Given the description of an element on the screen output the (x, y) to click on. 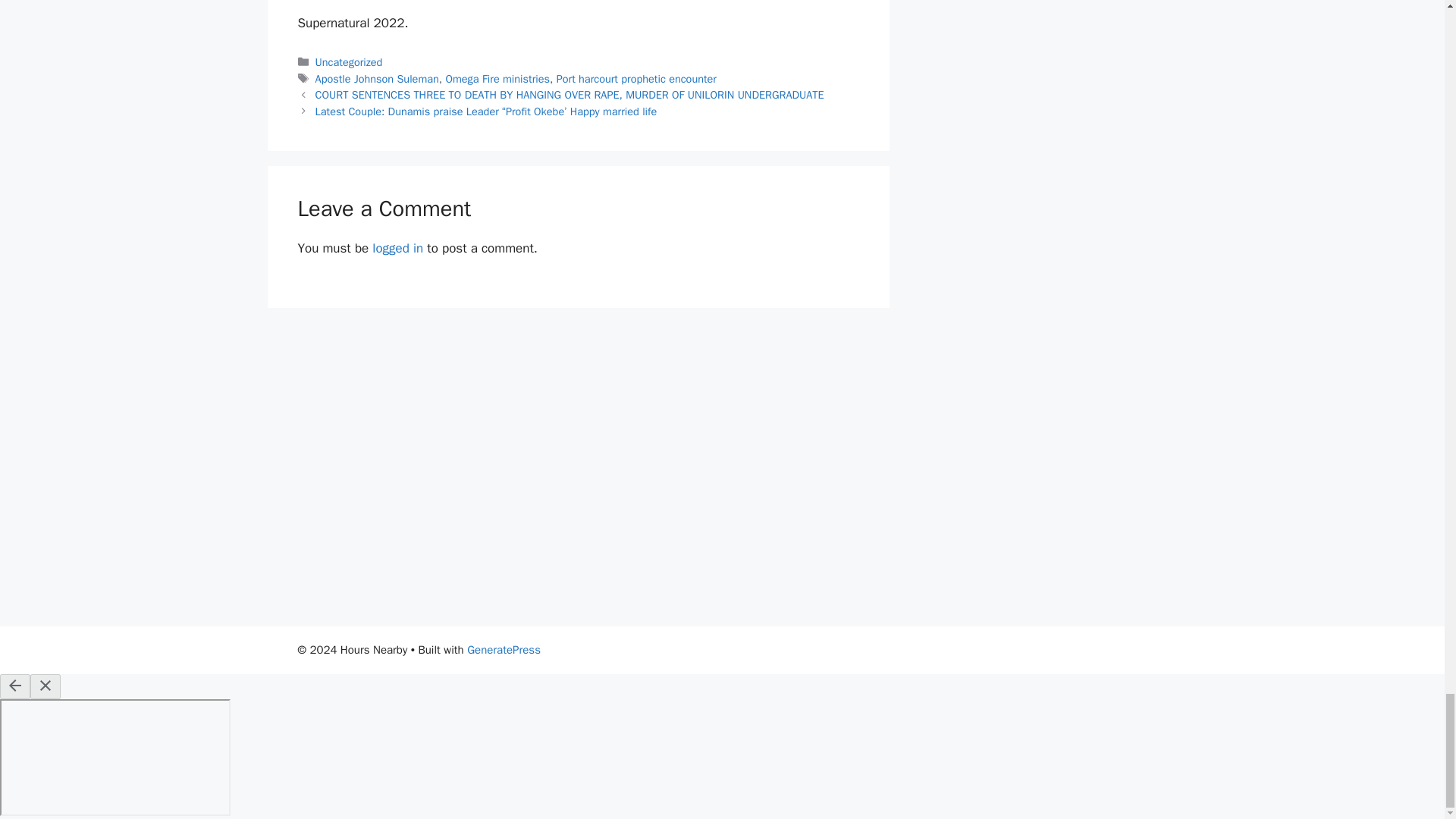
logged in (397, 248)
Port harcourt prophetic encounter (636, 78)
Apostle Johnson Suleman (377, 78)
Omega Fire ministries (497, 78)
Uncategorized (348, 61)
